Given the description of an element on the screen output the (x, y) to click on. 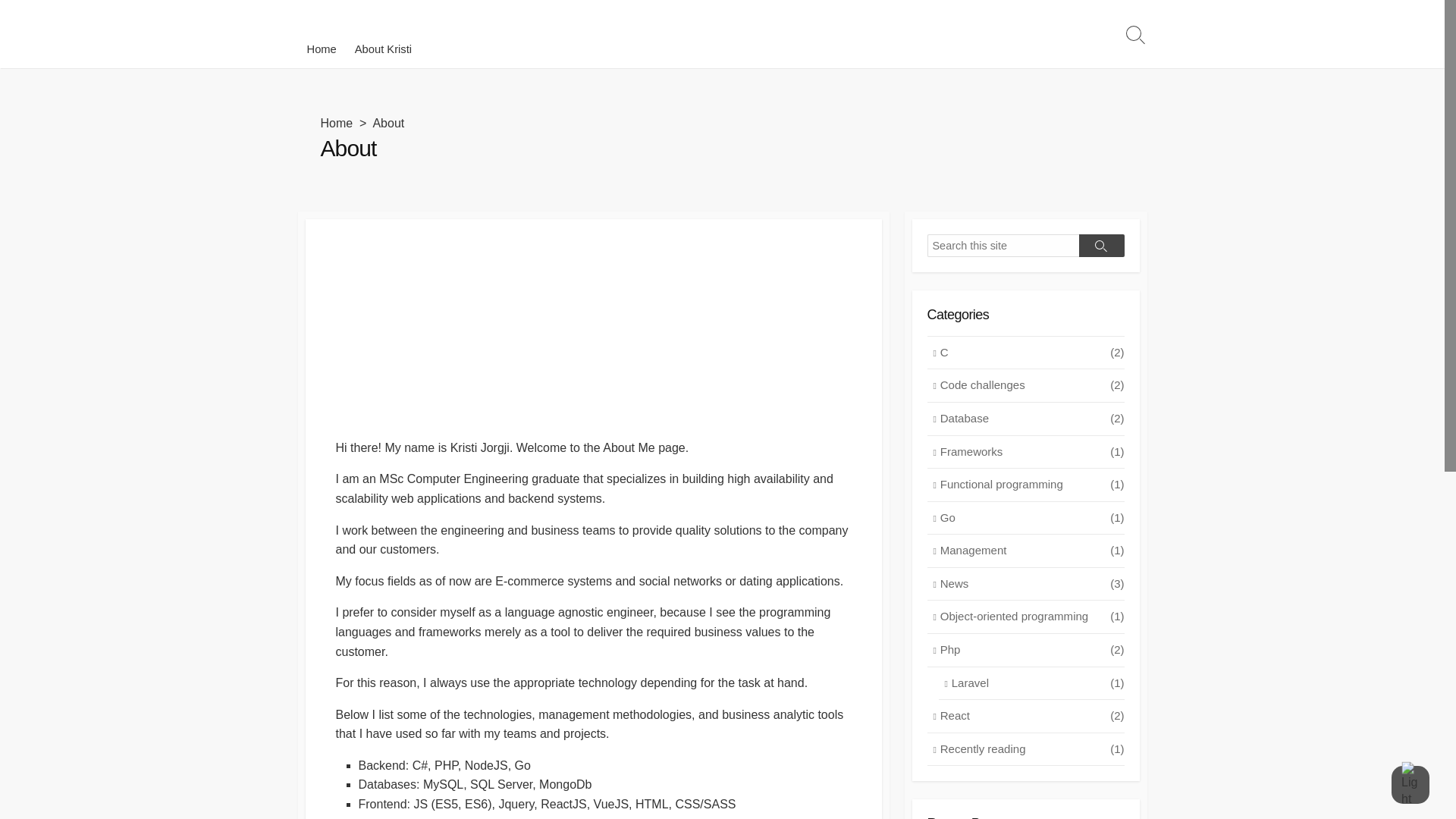
About Kristi (383, 48)
Home (336, 123)
Search (1101, 245)
Home (321, 48)
